Given the description of an element on the screen output the (x, y) to click on. 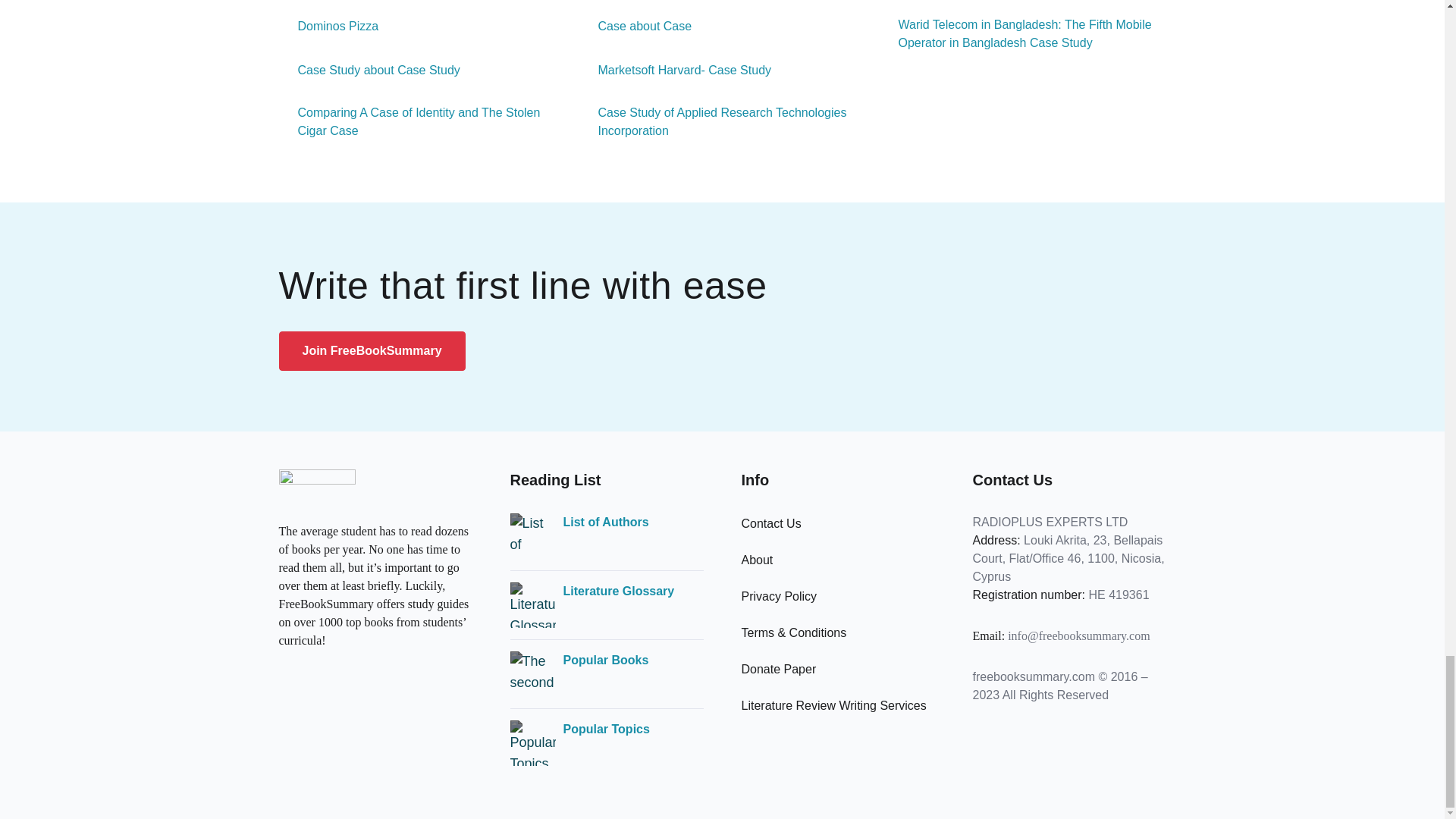
Case Study about Case Study (369, 70)
List of Authors (604, 522)
Case about Case (636, 26)
Comparing A Case of Identity and The Stolen Cigar Case (422, 122)
Popular Books (604, 660)
Dominos Pizza (328, 26)
Literature Glossary (618, 591)
About (757, 559)
Contact Us (771, 522)
Case Study of Applied Research Technologies Incorporation (722, 122)
Popular Topics (605, 729)
Marketsoft Harvard- Case Study (675, 70)
